Given the description of an element on the screen output the (x, y) to click on. 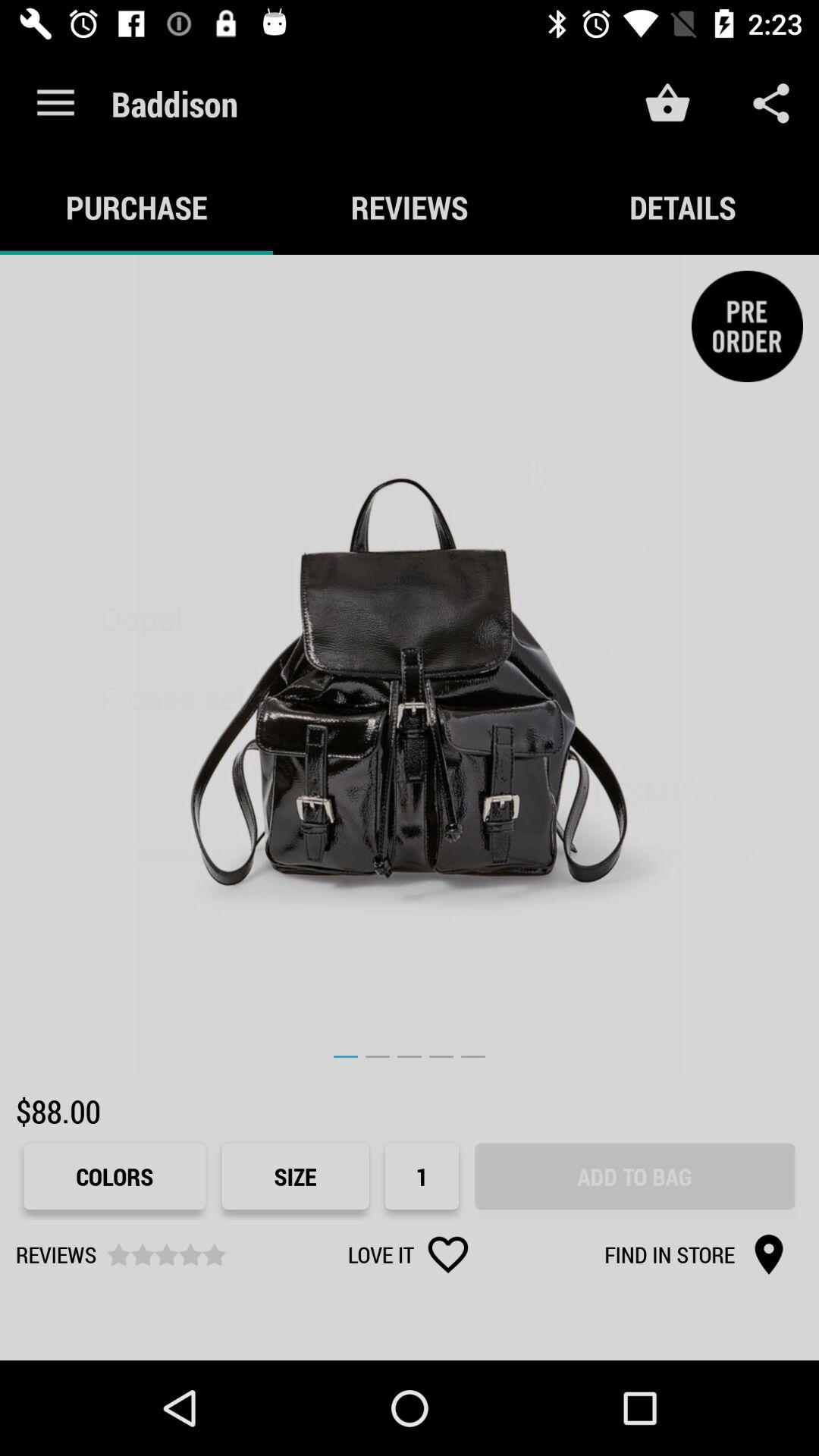
select item to the left of baddison (55, 103)
